Given the description of an element on the screen output the (x, y) to click on. 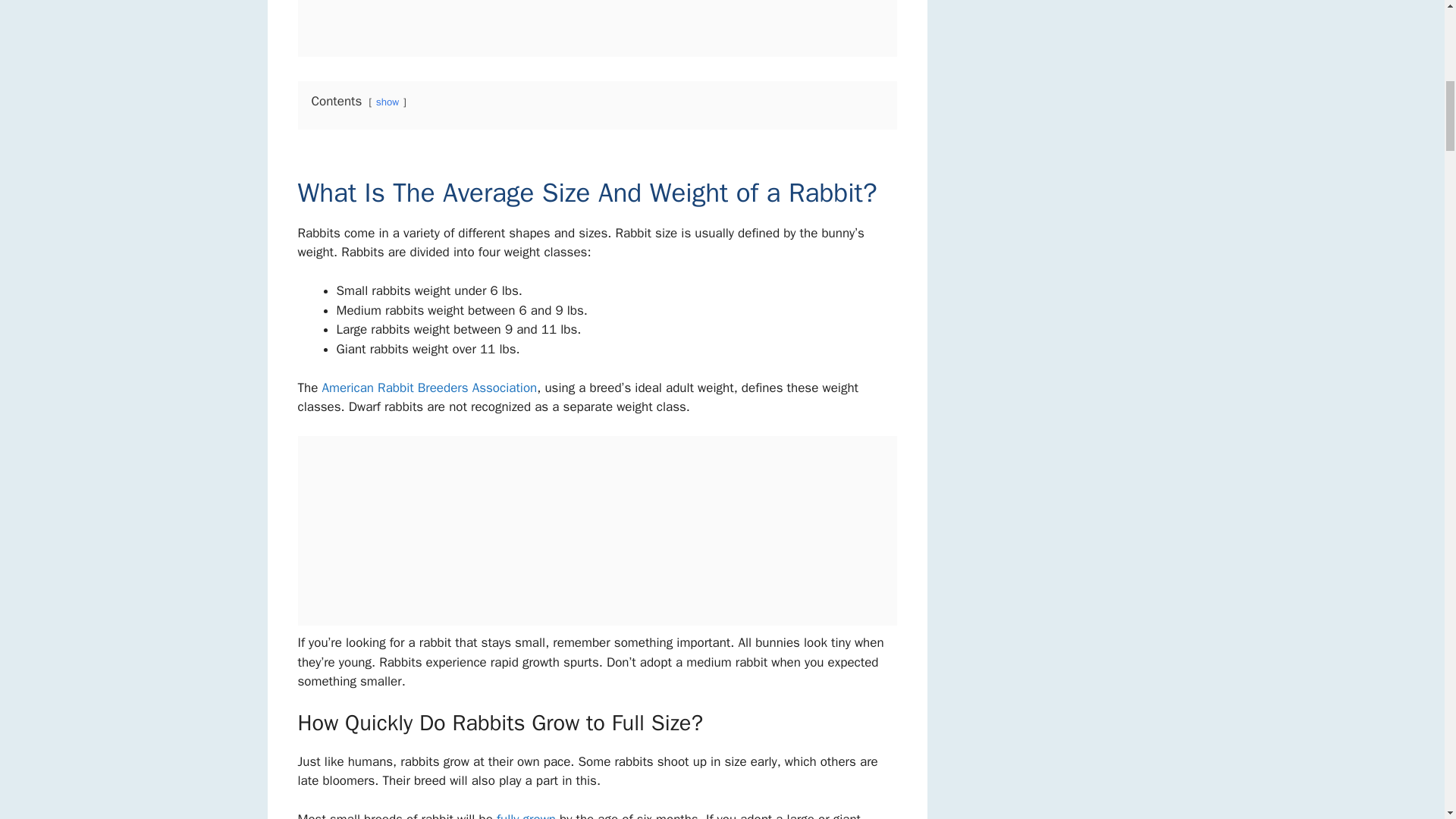
fully grown (526, 815)
show (386, 101)
American Rabbit Breeders Association (429, 387)
